Given the description of an element on the screen output the (x, y) to click on. 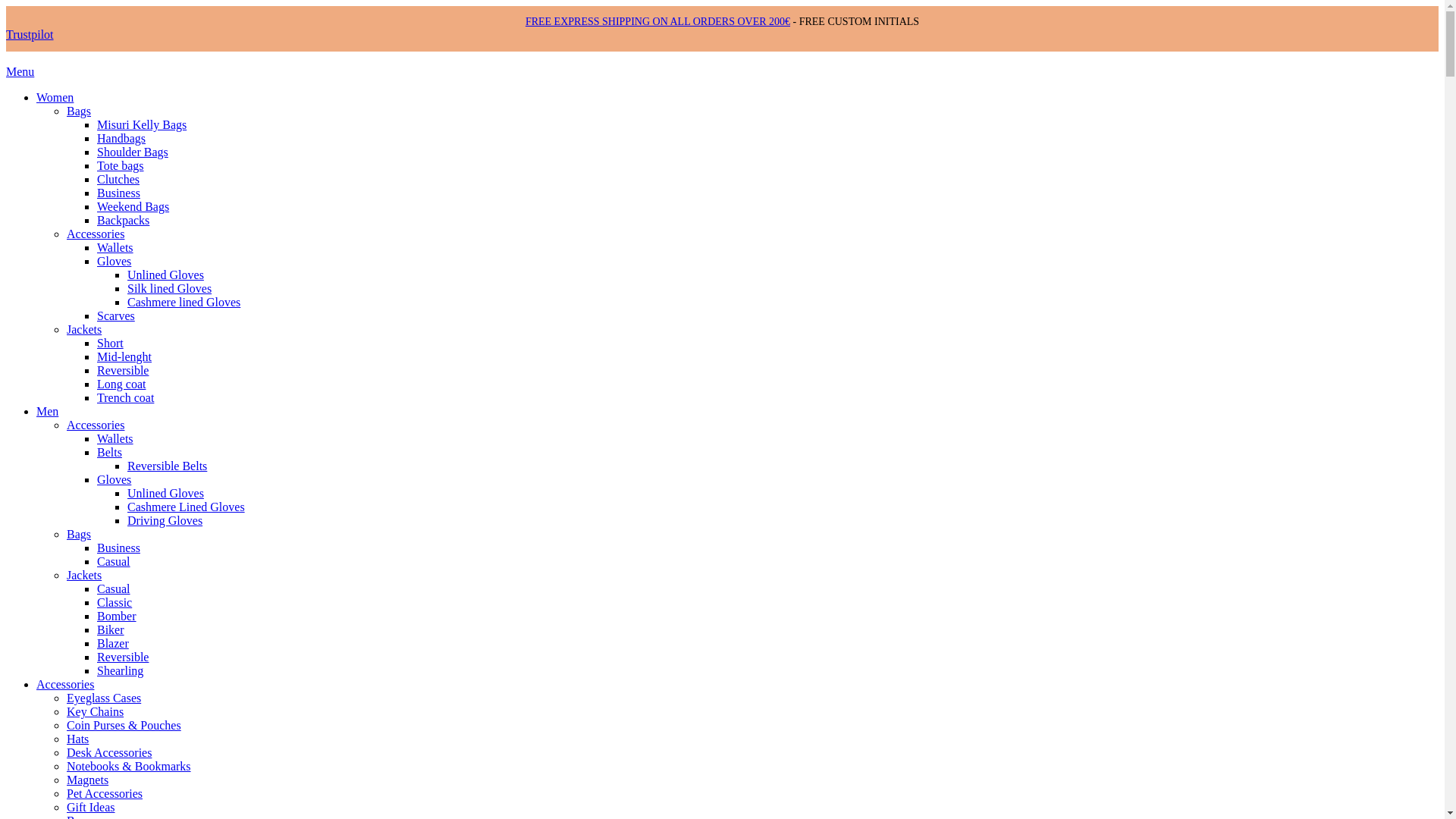
Bags (78, 110)
Handbags (121, 137)
Trustpilot (29, 33)
Business (118, 192)
Mid-lenght (124, 356)
Tote bags (120, 164)
Unlined Gloves (165, 274)
Shoulder Bags (132, 151)
Accessories (94, 233)
Weekend Bags (132, 205)
Driving Gloves (165, 520)
Bags (78, 533)
Business (118, 547)
Women (55, 97)
Gloves (114, 479)
